Given the description of an element on the screen output the (x, y) to click on. 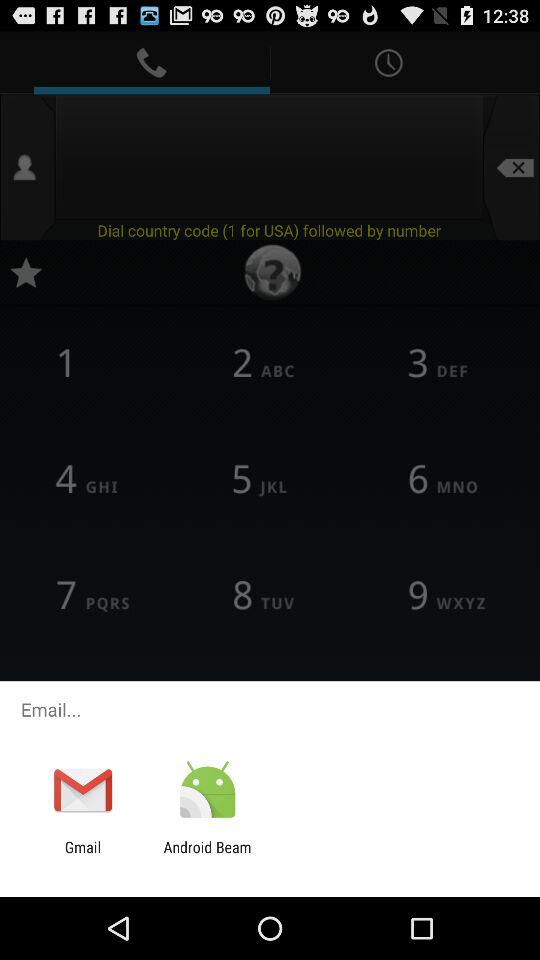
scroll to the gmail (82, 856)
